Given the description of an element on the screen output the (x, y) to click on. 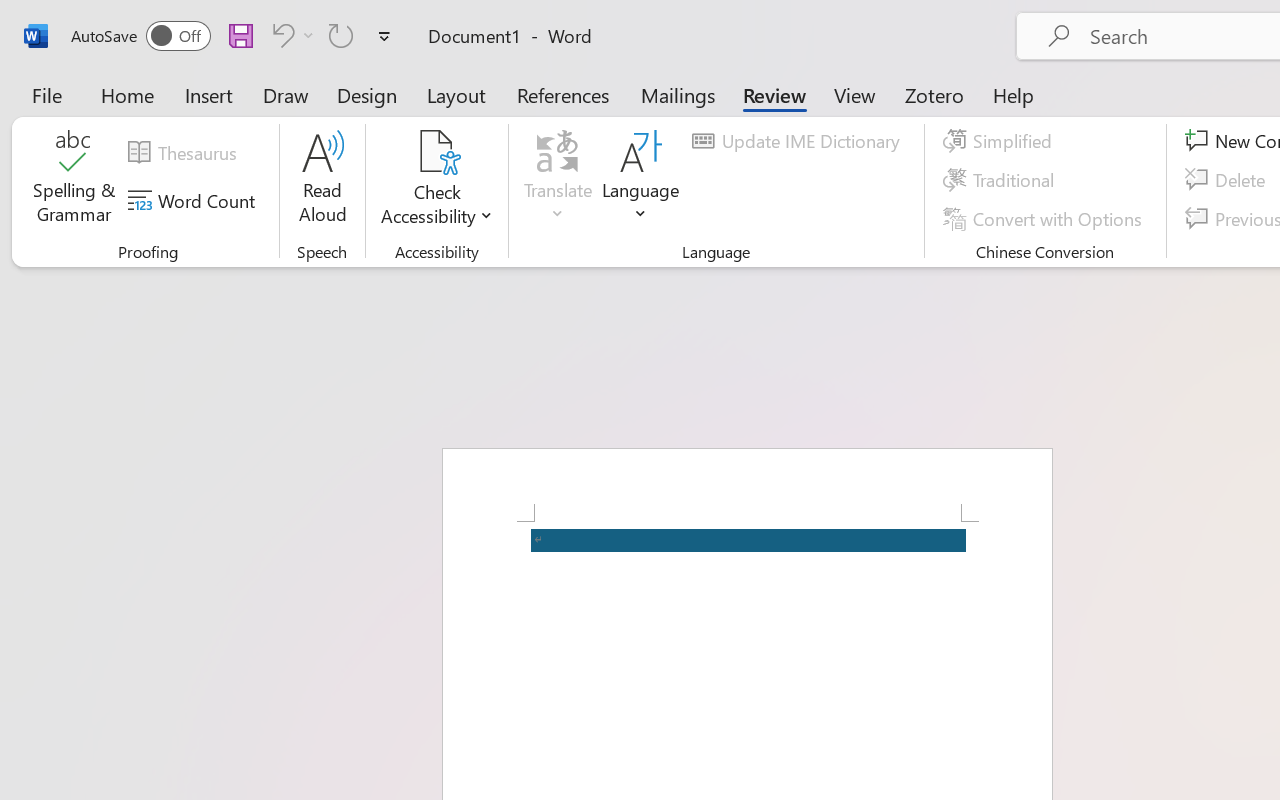
Word Count (194, 201)
Convert with Options... (1045, 218)
Check Accessibility (436, 151)
Spelling & Grammar (74, 180)
Simplified (1000, 141)
Repeat Accessibility Checker (341, 35)
